Given the description of an element on the screen output the (x, y) to click on. 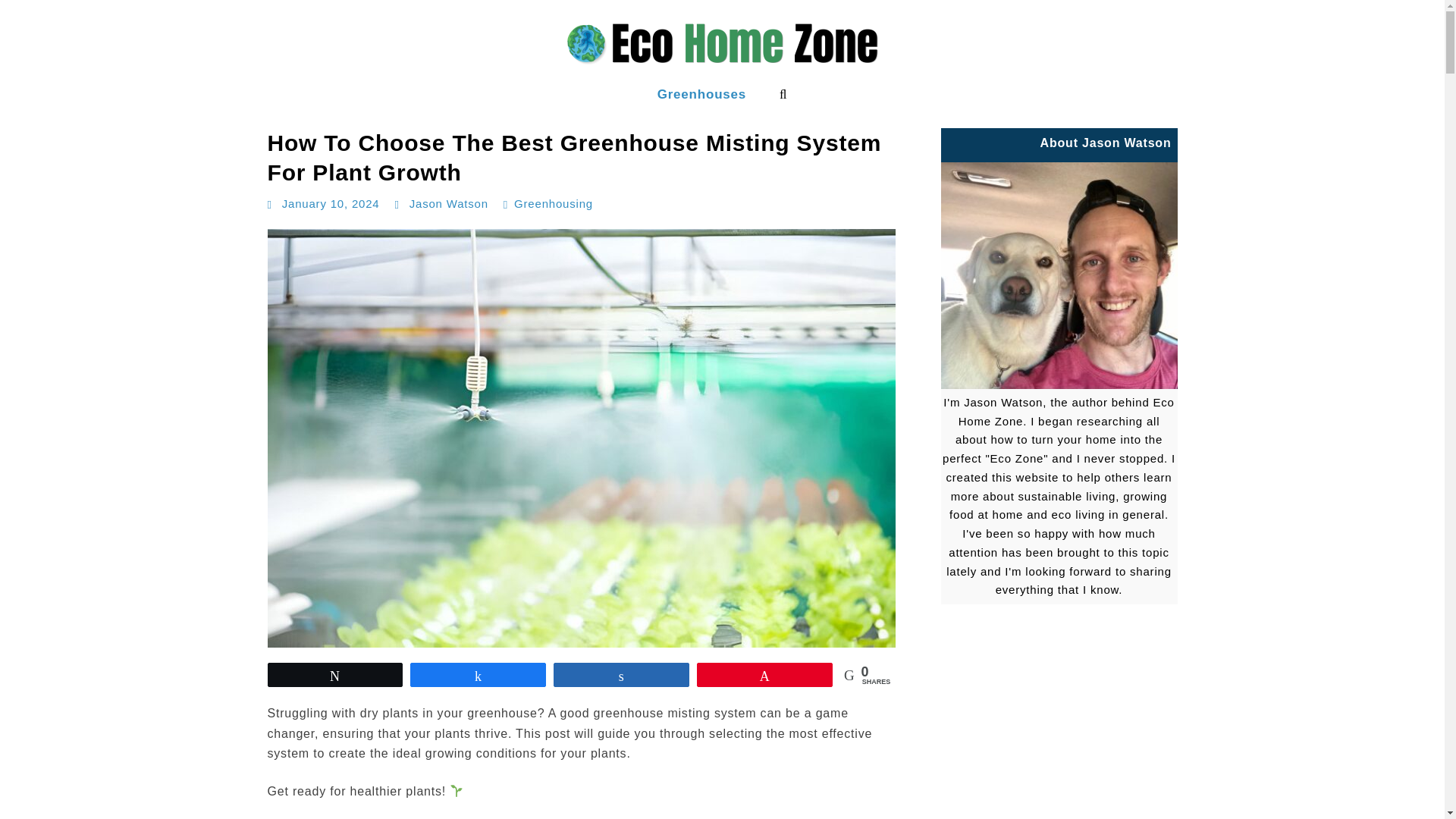
Eco Home Zone (61, 109)
Greenhouses (701, 94)
Search (782, 94)
Jason Watson (448, 203)
Greenhousing (552, 203)
About Jason Watson (1058, 275)
